Given the description of an element on the screen output the (x, y) to click on. 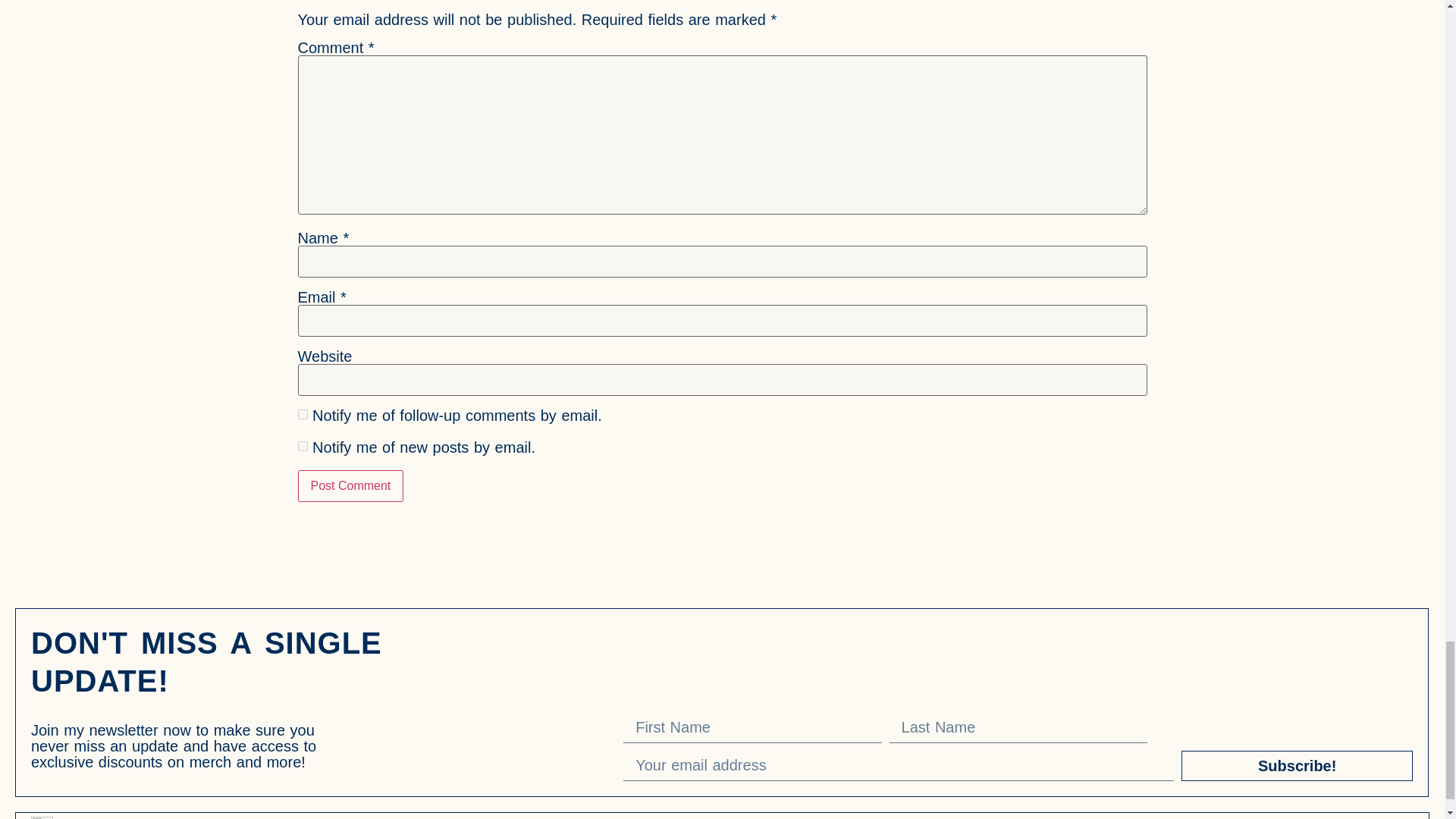
subscribe (302, 414)
subscribe (302, 446)
Post Comment (350, 486)
